Given the description of an element on the screen output the (x, y) to click on. 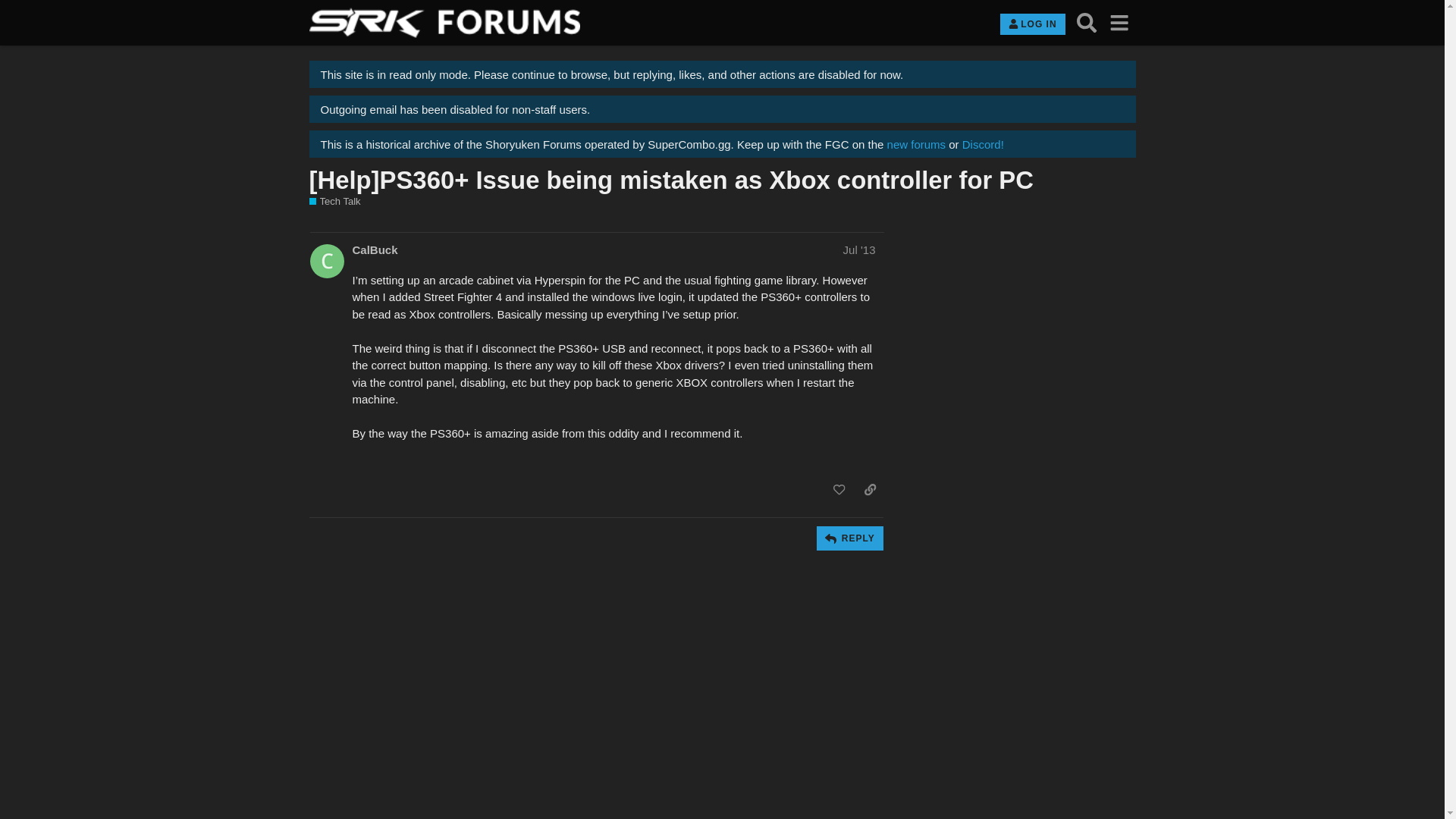
share a link to this post (870, 489)
Post date (859, 249)
menu (1119, 22)
REPLY (849, 538)
LOG IN (1032, 24)
Jul '13 (859, 249)
Tech Talk (334, 201)
Discord! (983, 144)
Search (1086, 22)
CalBuck (374, 249)
new forums (916, 144)
like this post (839, 489)
